Given the description of an element on the screen output the (x, y) to click on. 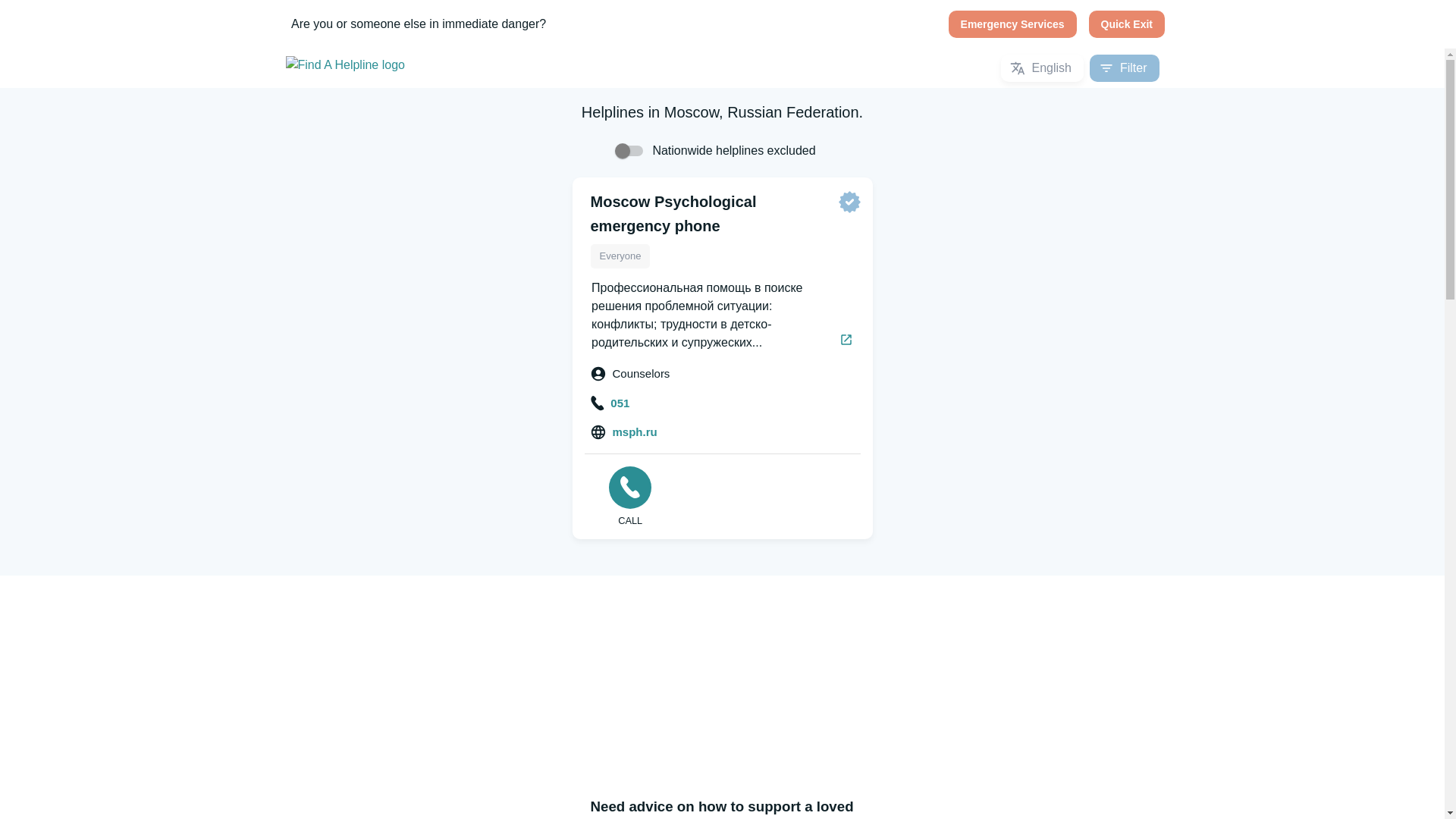
Moscow Psychological emergency phone (672, 213)
Emergency Services (1013, 24)
English (1042, 67)
Filter (1123, 67)
Counselors (630, 374)
msph.ru (624, 432)
Quick Exit (1126, 24)
051 (610, 402)
